Given the description of an element on the screen output the (x, y) to click on. 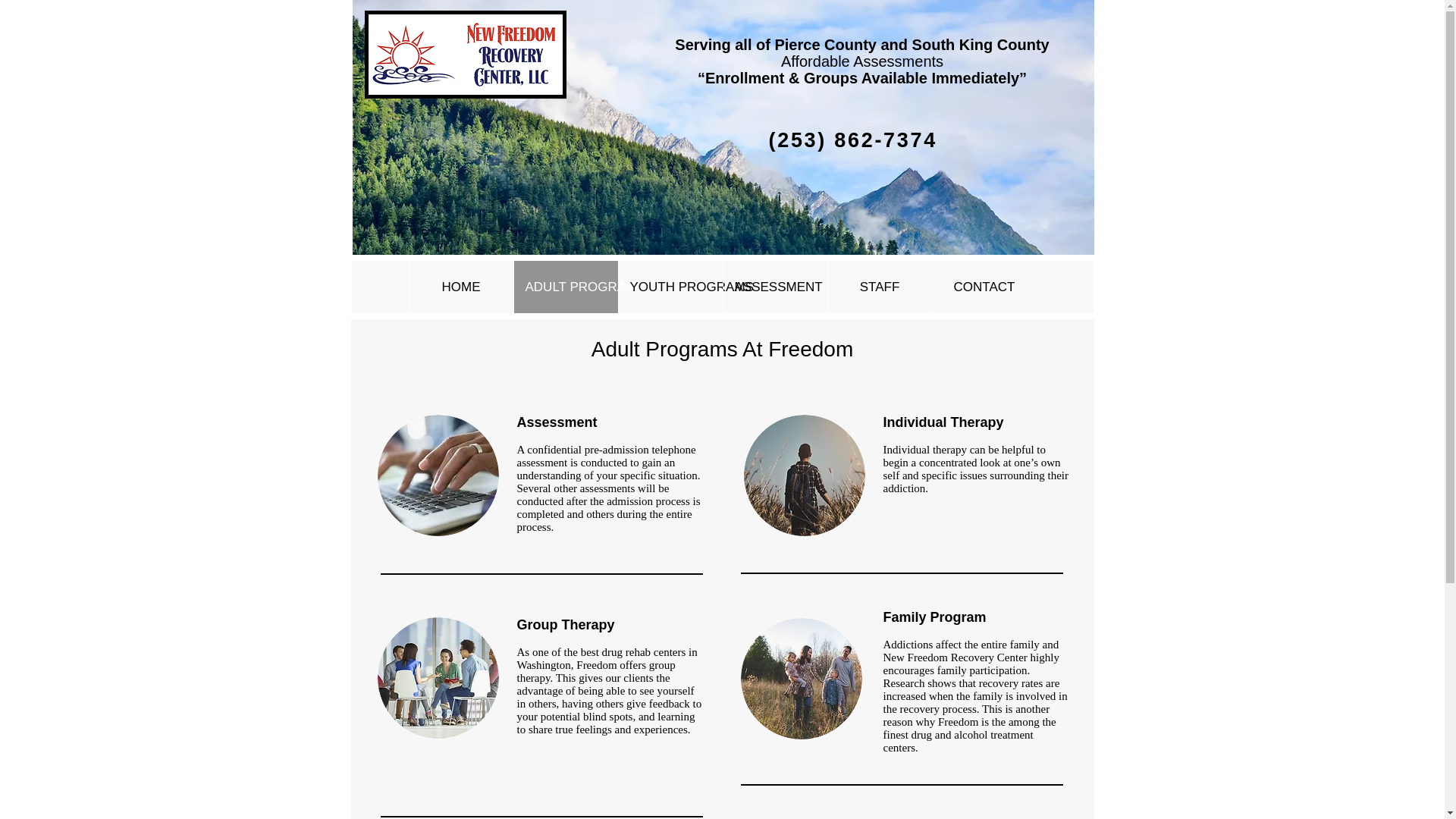
ADULT PROGRAMS (564, 286)
YOUTH PROGRAMS (669, 286)
HOME (459, 286)
ASSESSMENT (774, 286)
STAFF (879, 286)
CONTACT (983, 286)
